Given the description of an element on the screen output the (x, y) to click on. 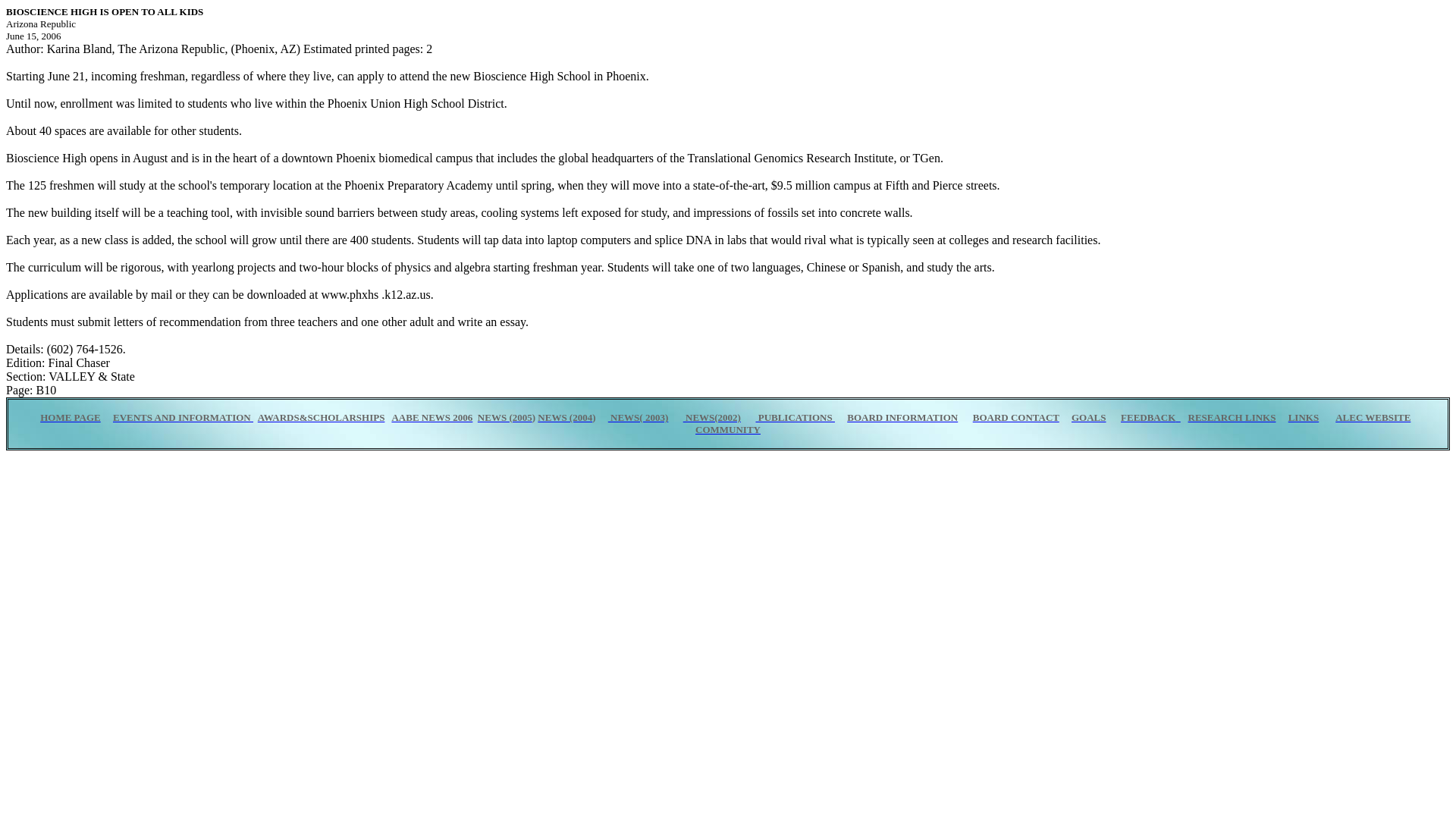
BOARD CONTACT (1015, 417)
FEEDBACK (1147, 417)
COMMUNITY (727, 429)
AABE NEWS 2006 (431, 417)
LINKS (1303, 417)
EVENTS AND INFORMATION (183, 417)
BOARD INFORMATION (902, 417)
RESEARCH LINKS (1231, 417)
HOME PAGE (70, 416)
ALEC WEBSITE (1372, 417)
